Given the description of an element on the screen output the (x, y) to click on. 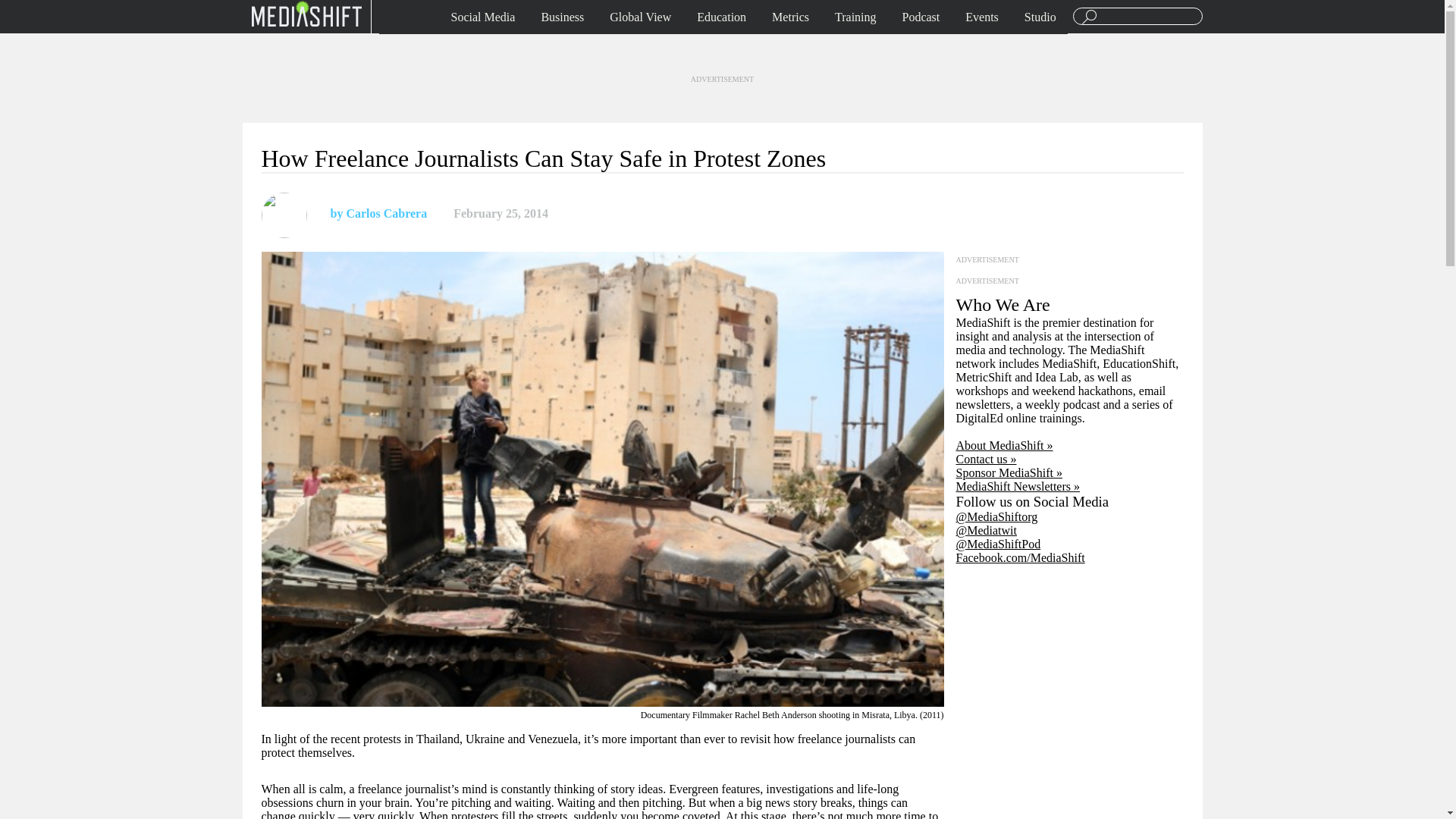
Business (562, 17)
Mediashift (305, 13)
Share by Email (628, 213)
Metrics (790, 17)
Social Media (483, 17)
Podcast (921, 17)
Training (856, 17)
Studio (1040, 17)
Global View (640, 17)
Events (981, 17)
